Given the description of an element on the screen output the (x, y) to click on. 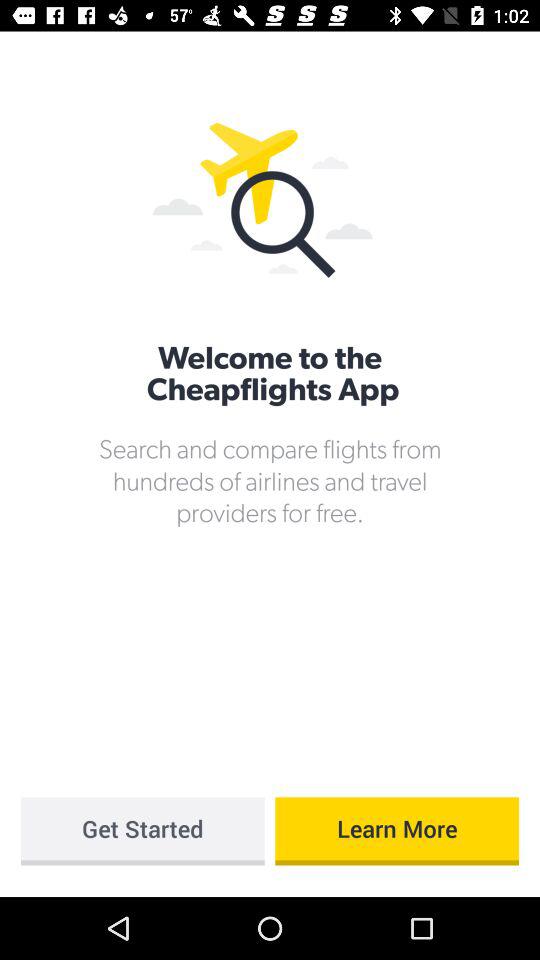
click the item to the left of learn more icon (142, 831)
